Given the description of an element on the screen output the (x, y) to click on. 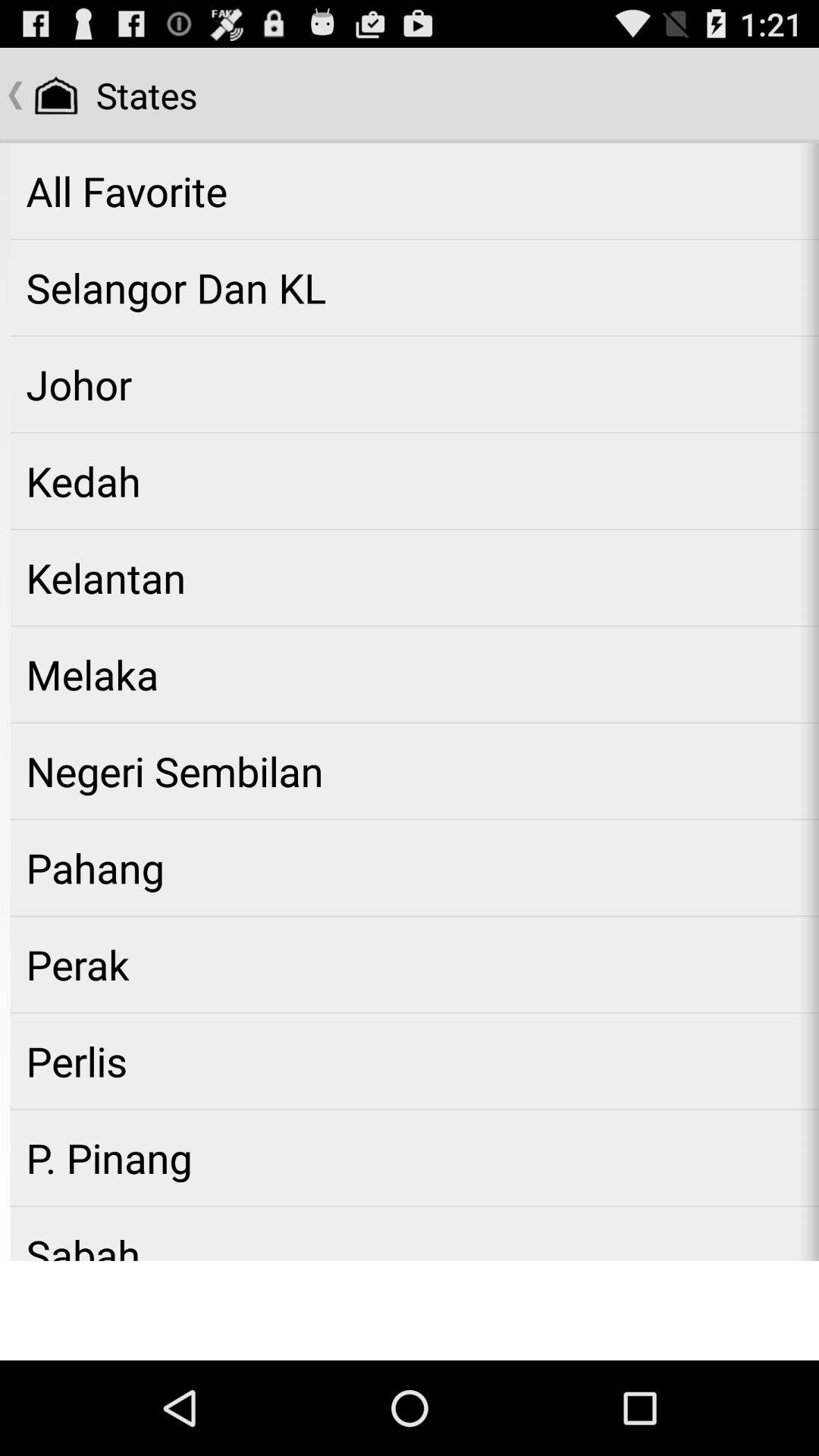
click all favorite app (414, 190)
